Given the description of an element on the screen output the (x, y) to click on. 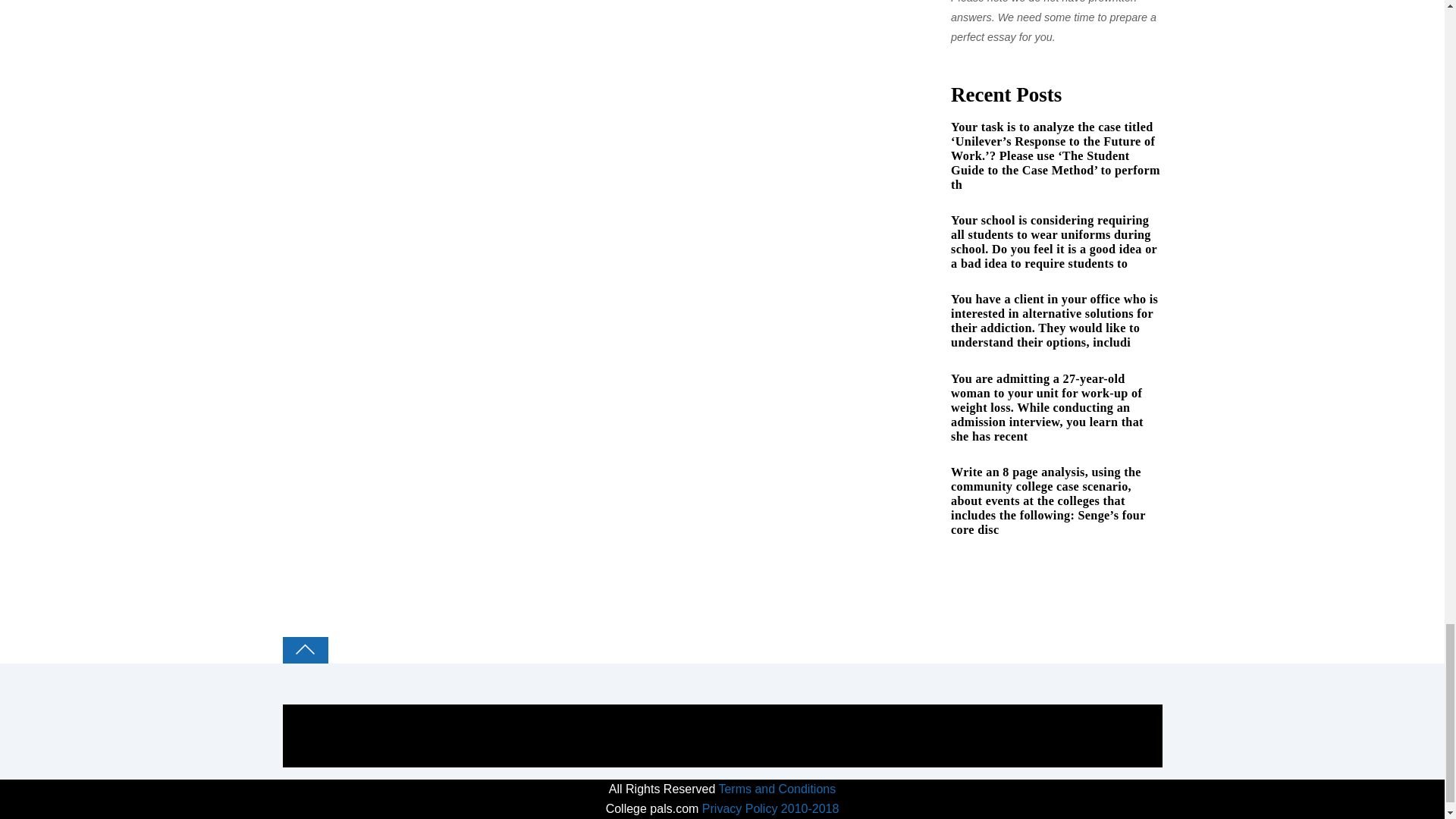
College Pal (362, 713)
